Given the description of an element on the screen output the (x, y) to click on. 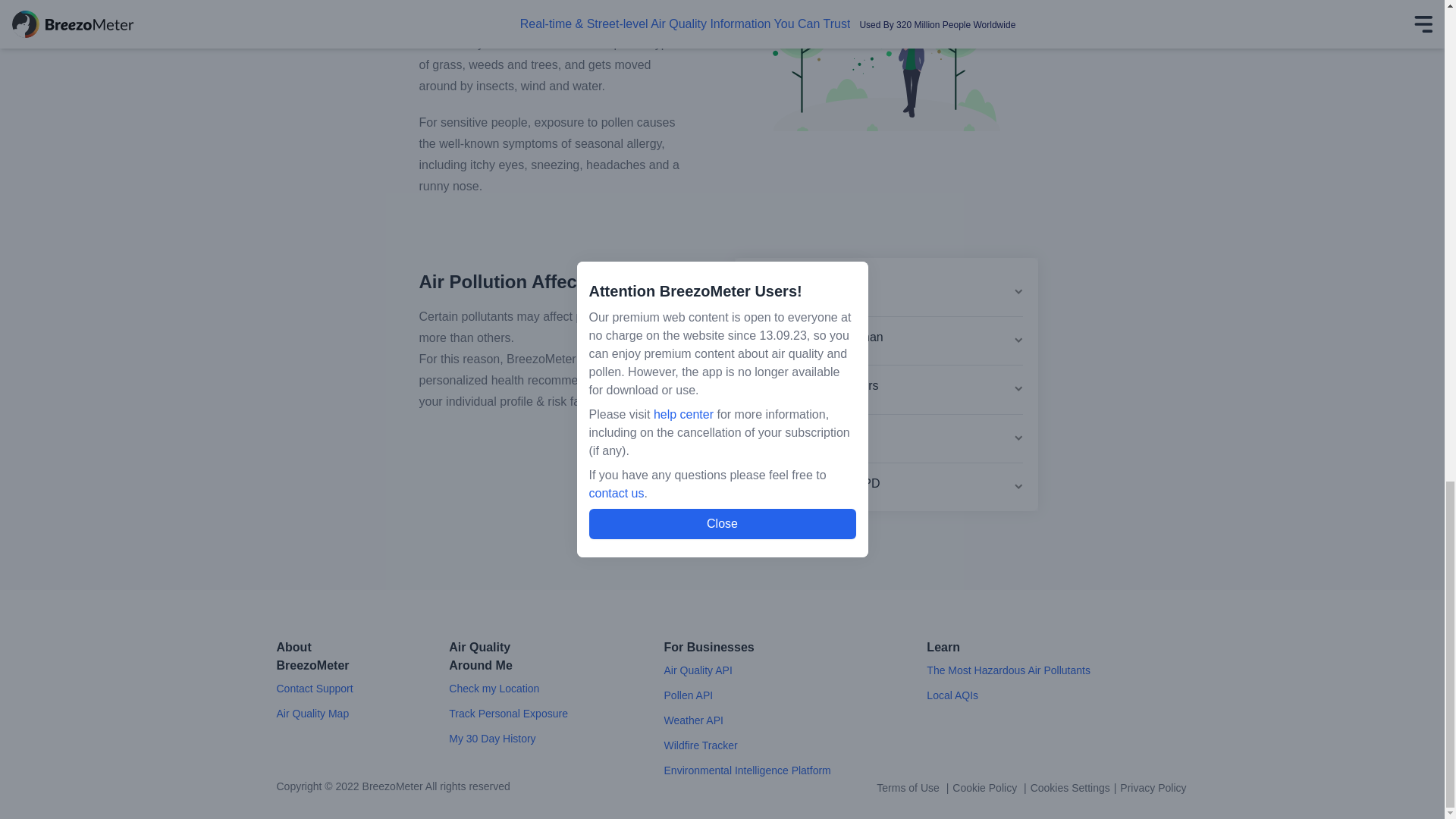
Terms of Use (909, 787)
Pollen API (688, 695)
Air Quality API (697, 670)
The Most Hazardous Air Pollutants (1008, 670)
Cookies Settings (1069, 788)
Environmental Intelligence Platform (747, 770)
Local AQIs (952, 695)
Air Quality Map (312, 713)
My 30 Day History (491, 738)
Track Personal Exposure (507, 713)
Privacy Policy (1152, 787)
Contact Support (314, 688)
Wildfire Tracker (700, 745)
Cookie Policy (986, 787)
Weather API (693, 720)
